Given the description of an element on the screen output the (x, y) to click on. 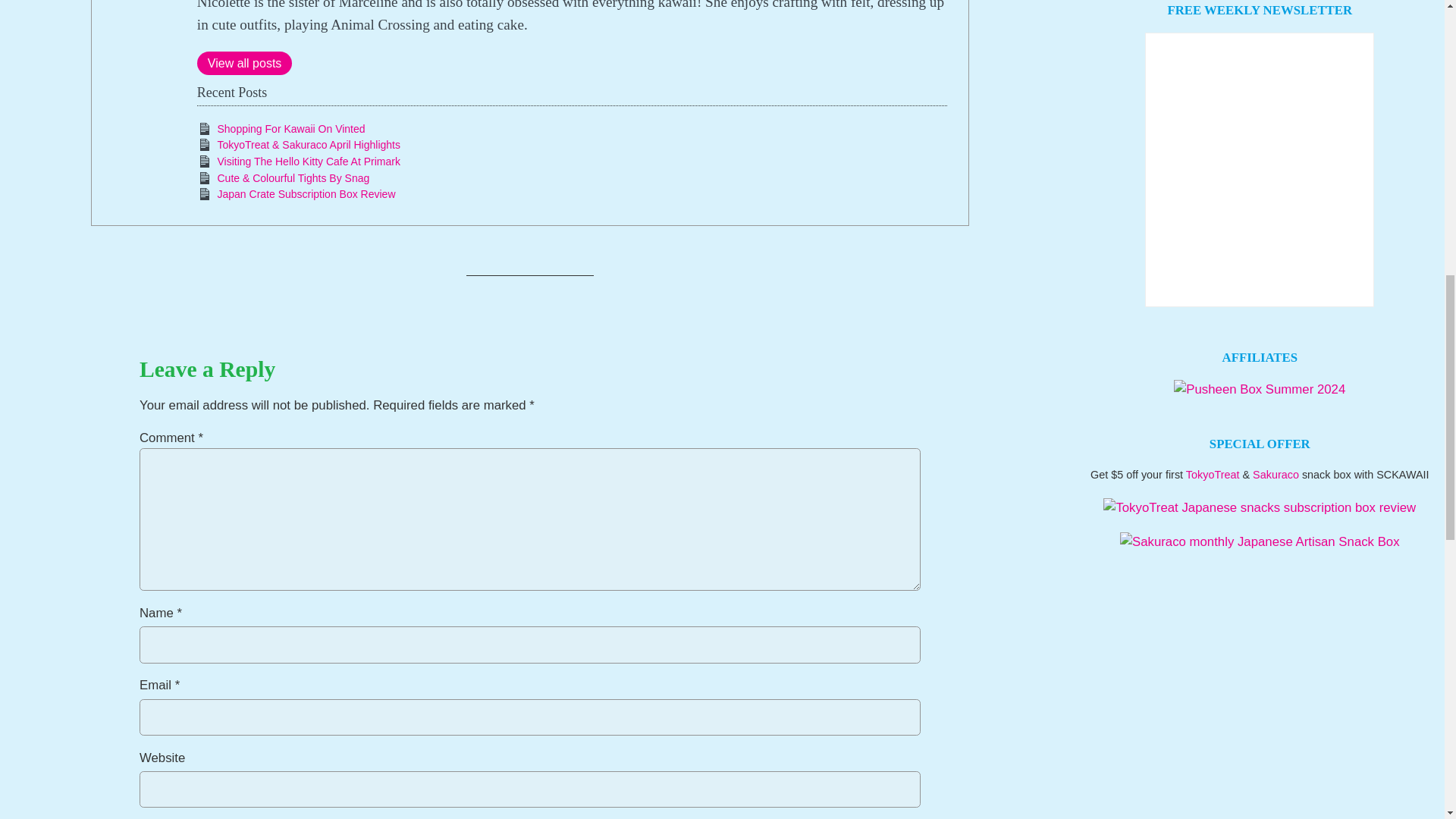
Visiting The Hello Kitty Cafe At Primark (307, 161)
Shopping For Kawaii On Vinted (290, 128)
Japan Crate Subscription Box Review (305, 193)
View all posts (244, 63)
